Given the description of an element on the screen output the (x, y) to click on. 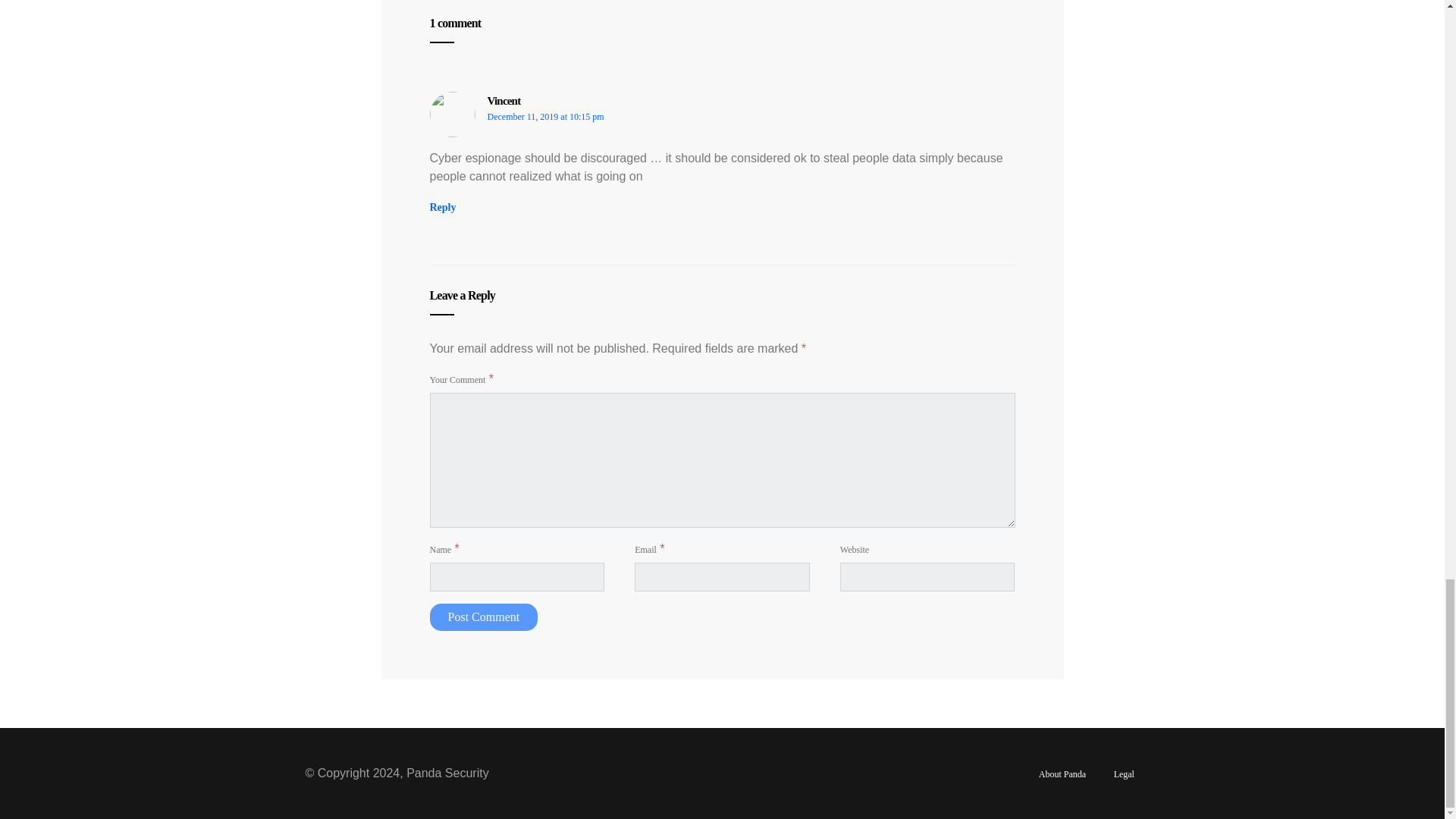
Post Comment (483, 616)
